Given the description of an element on the screen output the (x, y) to click on. 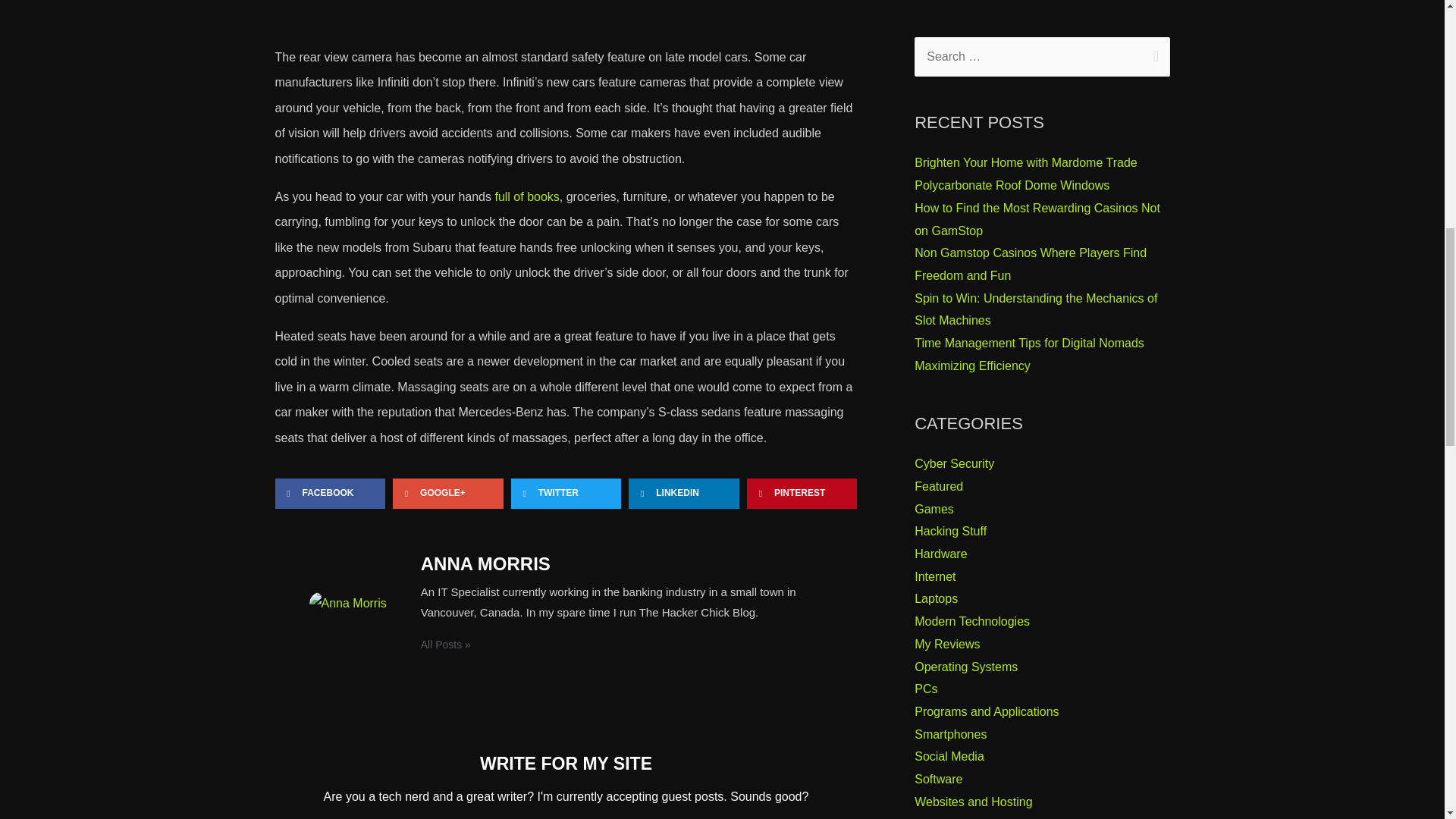
Non Gamstop Casinos Where Players Find Freedom and Fun (1030, 263)
How to Find the Most Rewarding Casinos Not on GamStop (1037, 219)
Cyber Security (954, 463)
ANNA MORRIS (622, 564)
Search (1152, 51)
Spin to Win: Understanding the Mechanics of Slot Machines (1035, 309)
Search (1152, 51)
full of books (527, 196)
